Given the description of an element on the screen output the (x, y) to click on. 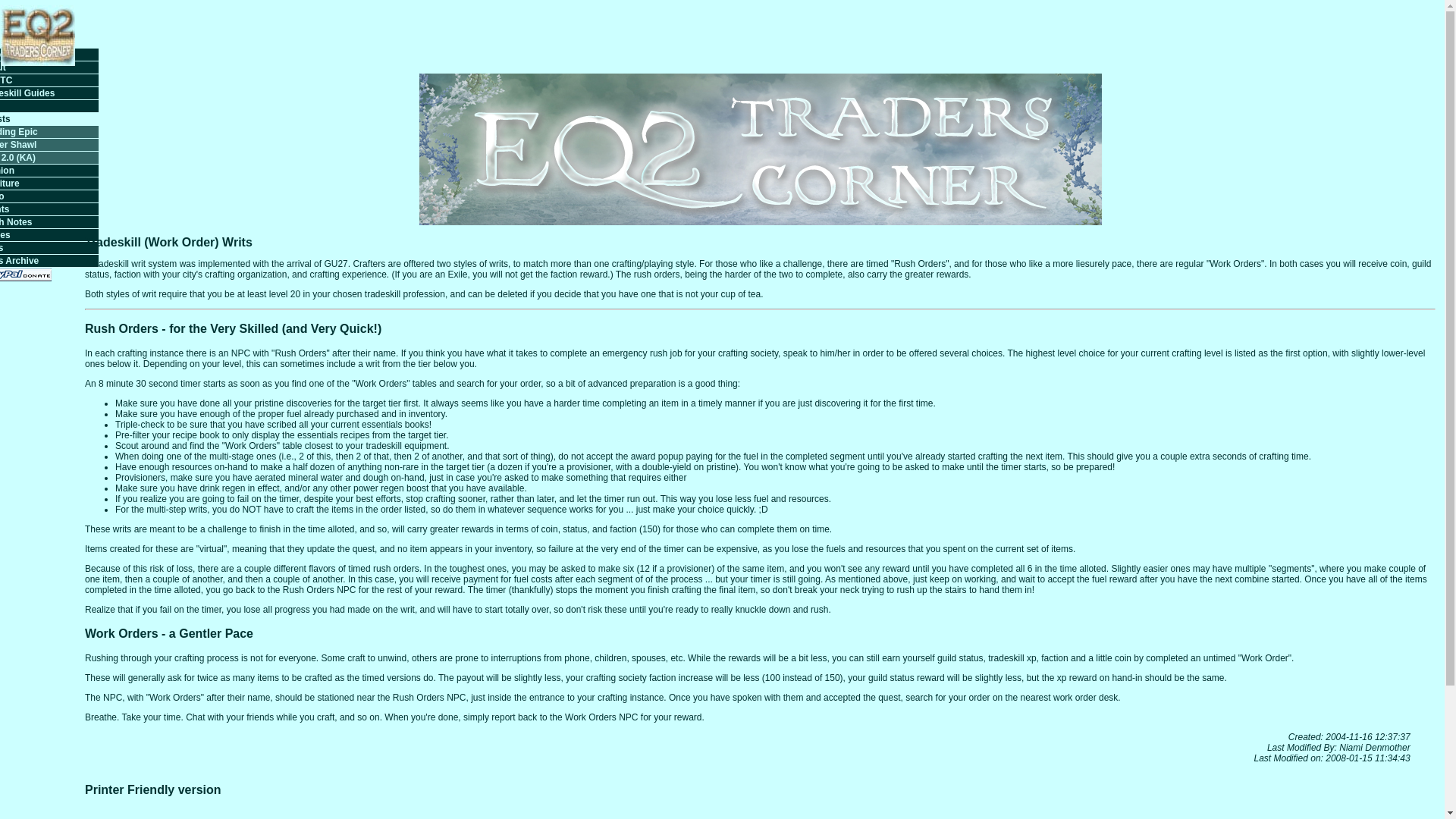
Advertisement (1159, 33)
Stories (49, 234)
About (49, 67)
Patch Notes (49, 222)
Prayer Shawl (49, 144)
Video (49, 196)
EQ1 TC (49, 80)
Furniture (49, 183)
Quests (49, 119)
Pudding Epic (49, 132)
Tradeskill Guides (49, 92)
FAQ (49, 105)
Printer Friendly version (152, 789)
Home (49, 54)
News Archive (49, 260)
